Given the description of an element on the screen output the (x, y) to click on. 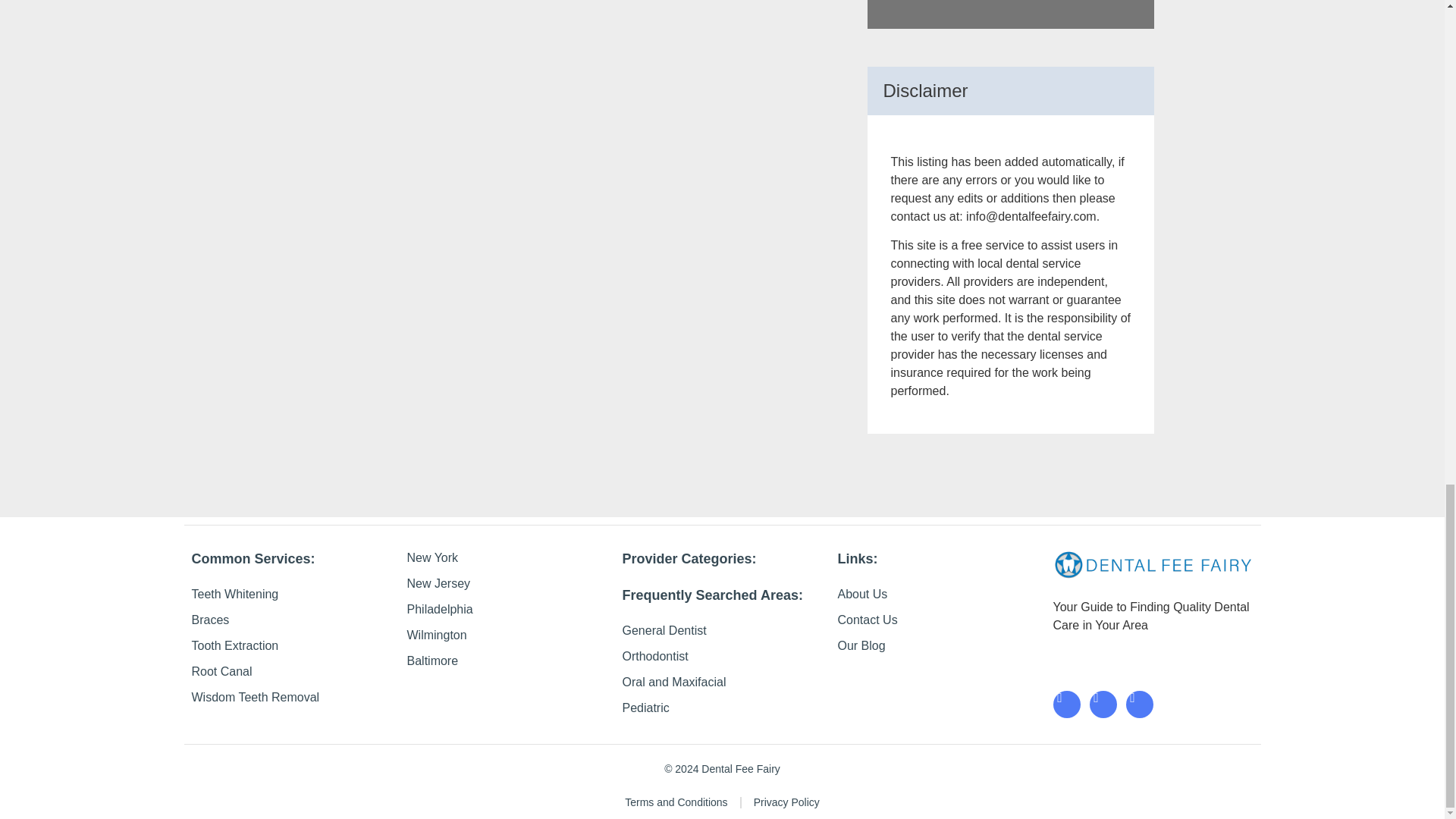
Tooth Extraction (290, 646)
Pediatric (721, 708)
About Us (936, 594)
Braces (290, 619)
Root Canal (290, 671)
Baltimore (506, 660)
Teeth Whitening (290, 594)
General Dentist (721, 630)
New York (506, 557)
Philadelphia (506, 609)
